Given the description of an element on the screen output the (x, y) to click on. 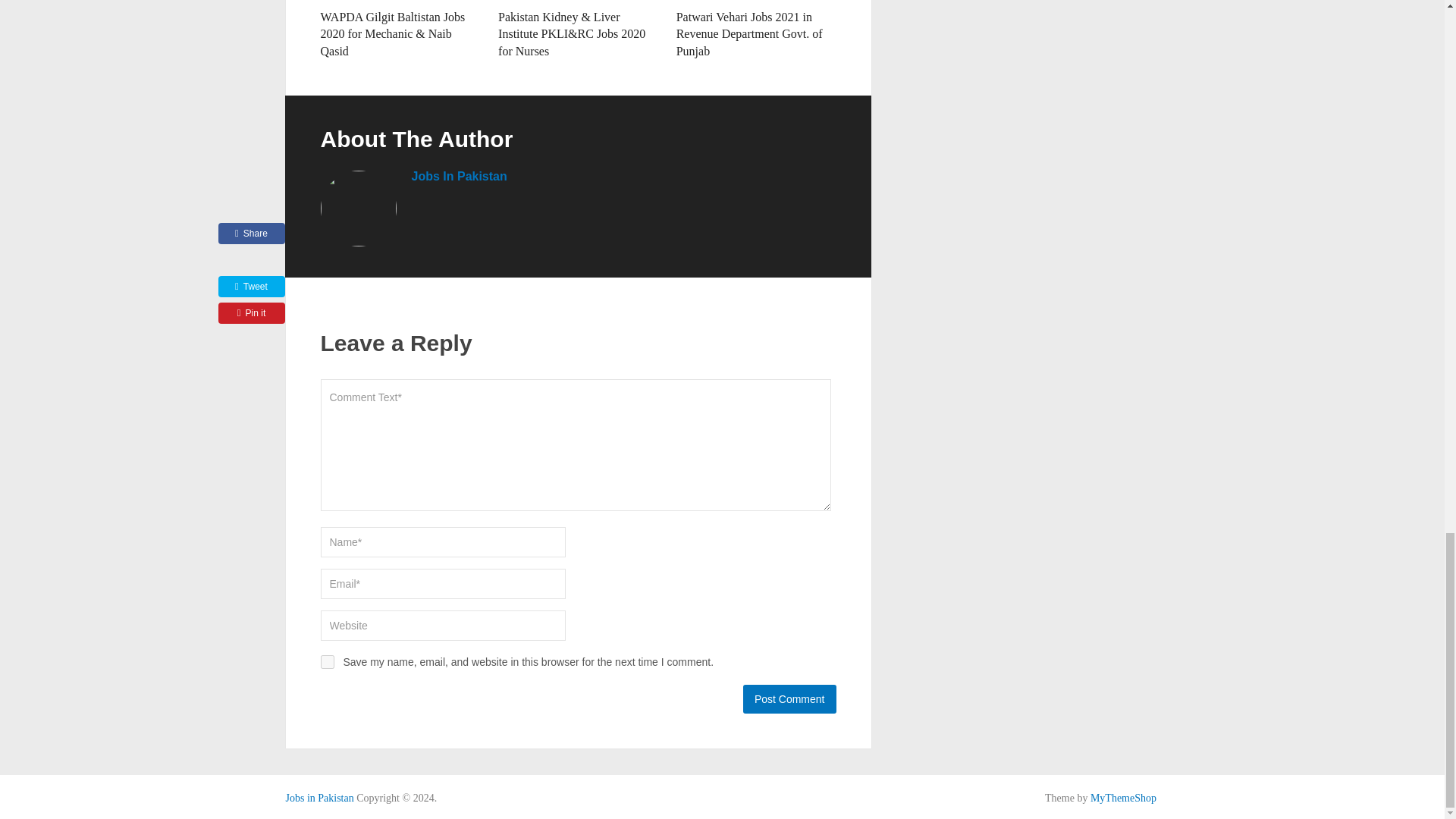
yes (326, 662)
 Latest Jobs in Pakistan, Government Jobs in Pakistan (319, 797)
Post Comment (788, 698)
